Given the description of an element on the screen output the (x, y) to click on. 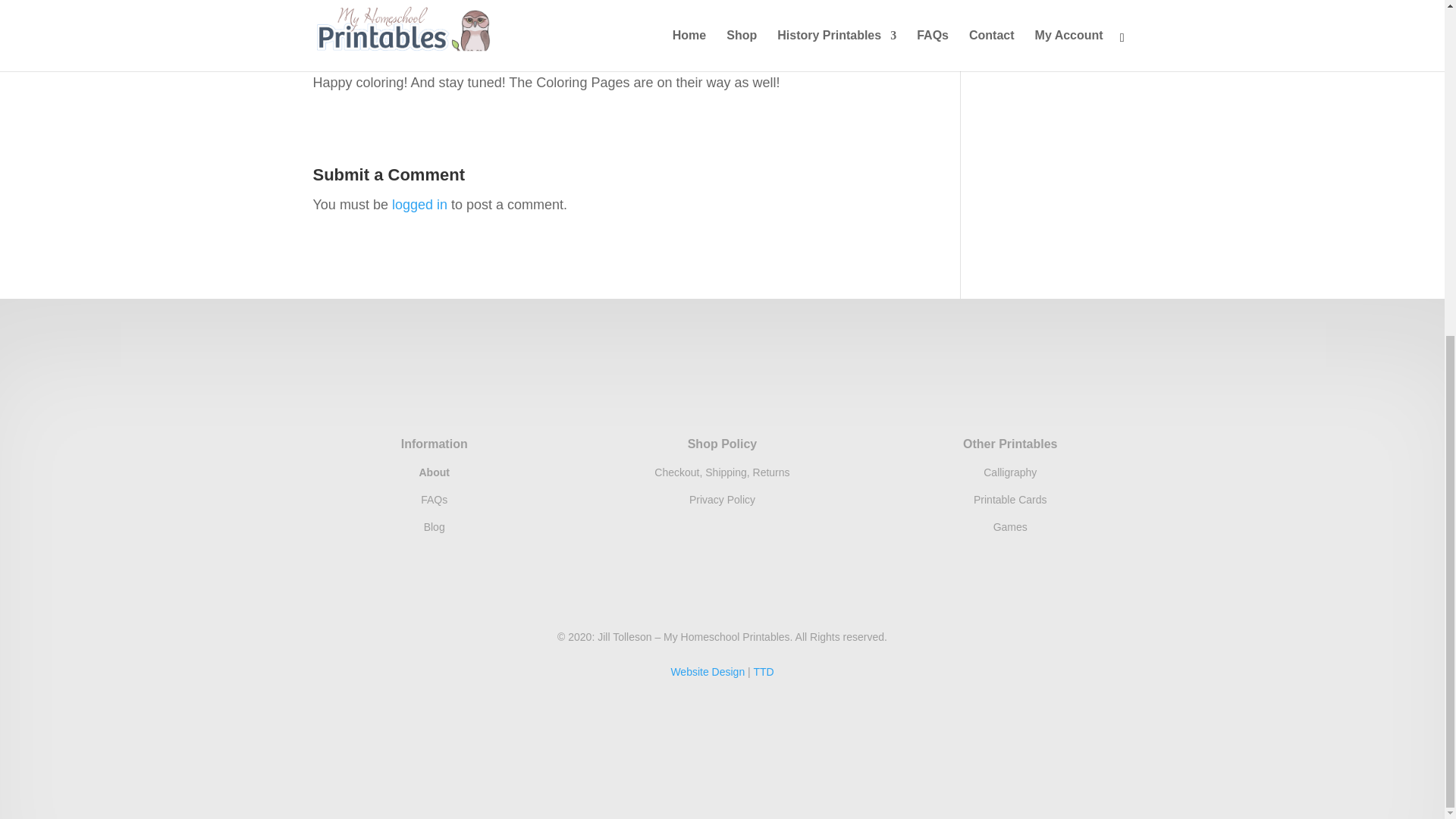
Website Design (706, 671)
TTD (762, 671)
logged in (418, 204)
